Given the description of an element on the screen output the (x, y) to click on. 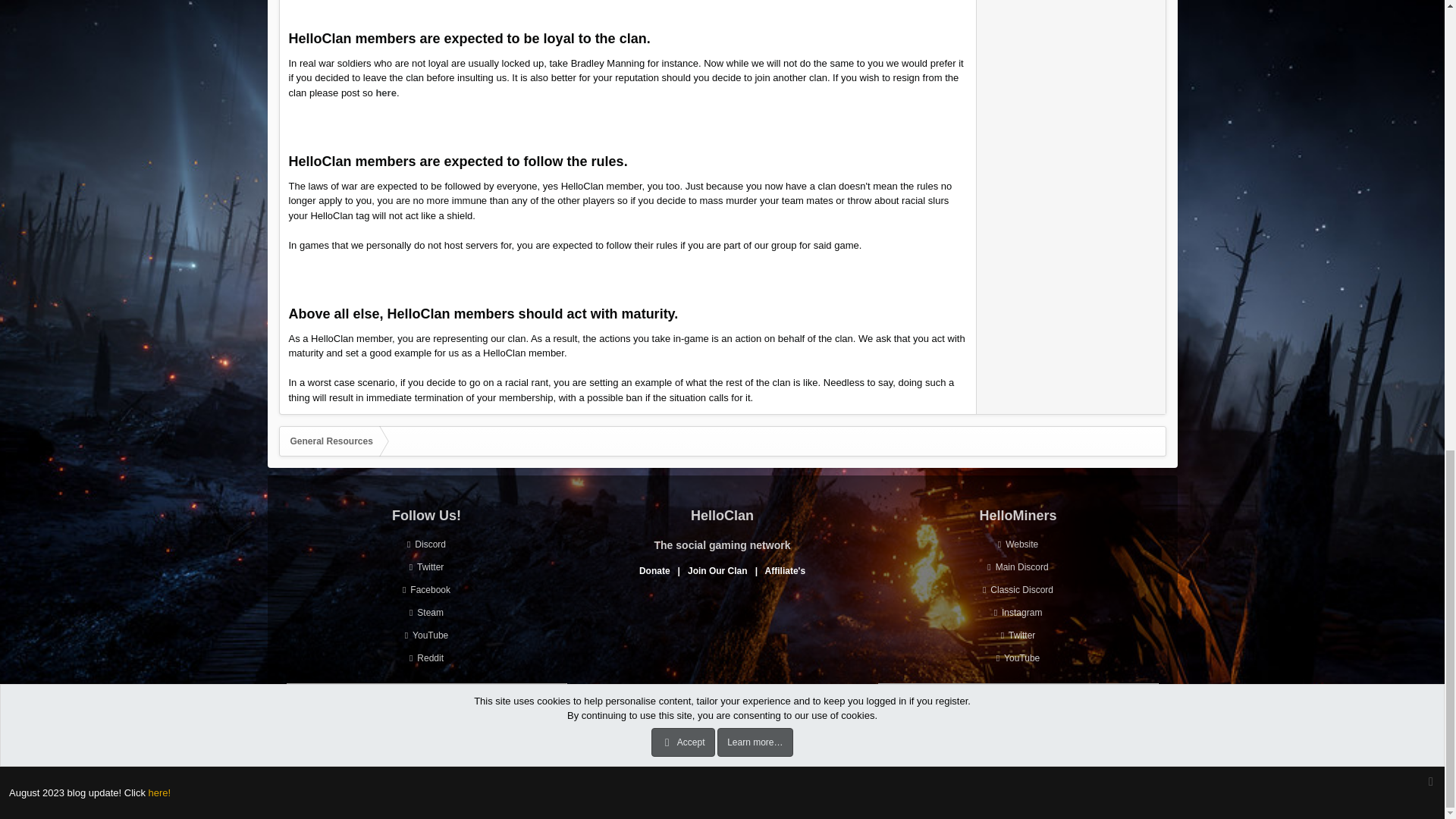
Style chooser (313, 744)
Customize (365, 744)
